Given the description of an element on the screen output the (x, y) to click on. 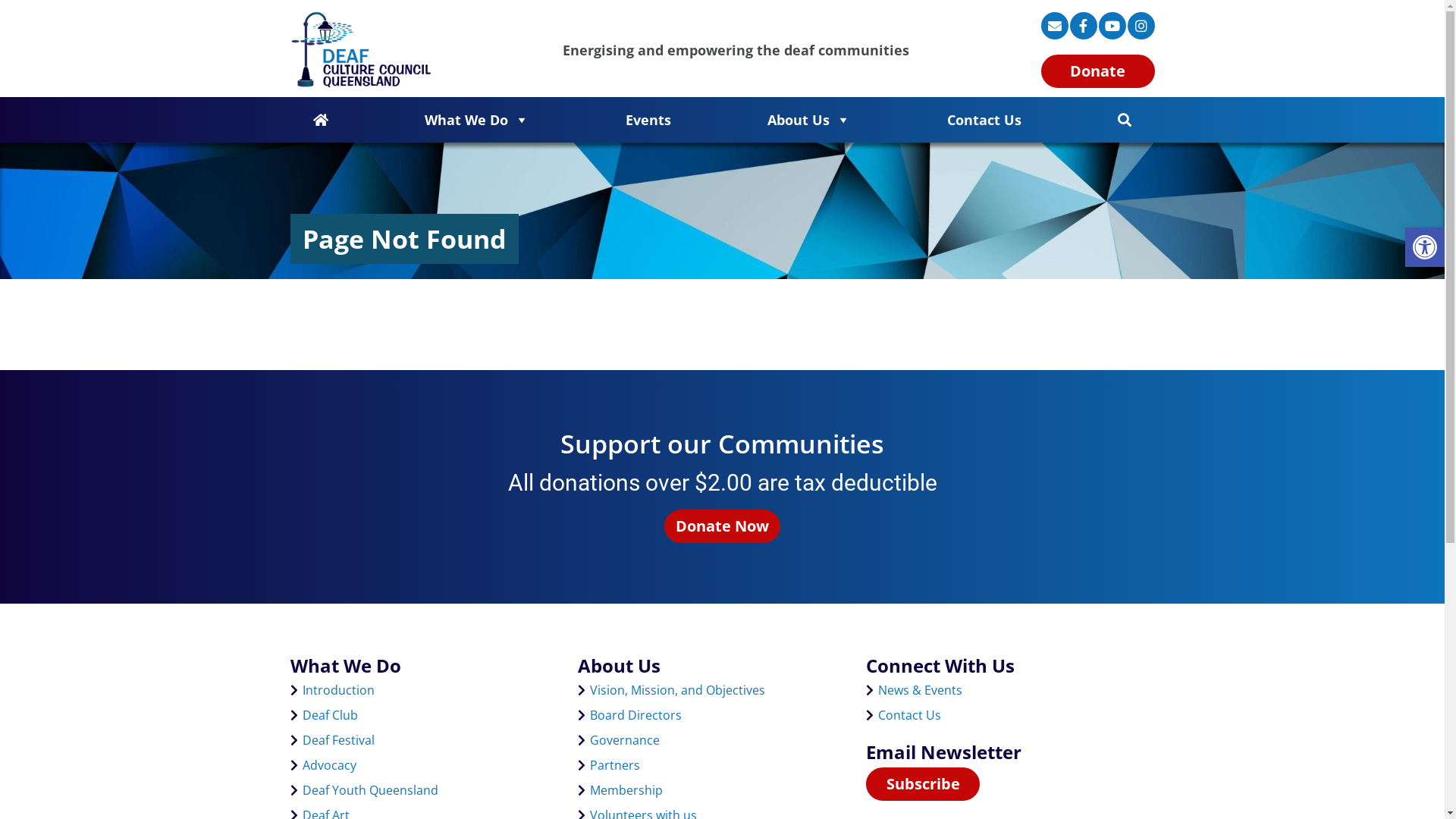
Advocacy Element type: text (328, 764)
Open toolbar
Accessibility Tools Element type: text (1424, 246)
What We Do Element type: text (476, 119)
Membership Element type: text (625, 789)
News & Events Element type: text (920, 689)
Subscribe Element type: text (922, 783)
Contact Us Element type: text (983, 119)
Board Directors Element type: text (635, 714)
Governance Element type: text (624, 739)
Deaf Festival Element type: text (337, 739)
Introduction Element type: text (337, 689)
About Us Element type: text (809, 119)
Events Element type: text (648, 119)
Partners Element type: text (614, 764)
Contact Us Element type: text (909, 714)
Deaf Club Element type: text (329, 714)
Vision, Mission, and Objectives Element type: text (677, 689)
Deaf Youth Queensland Element type: text (369, 789)
Donate Now Element type: text (722, 525)
Donate Element type: text (1097, 70)
